Given the description of an element on the screen output the (x, y) to click on. 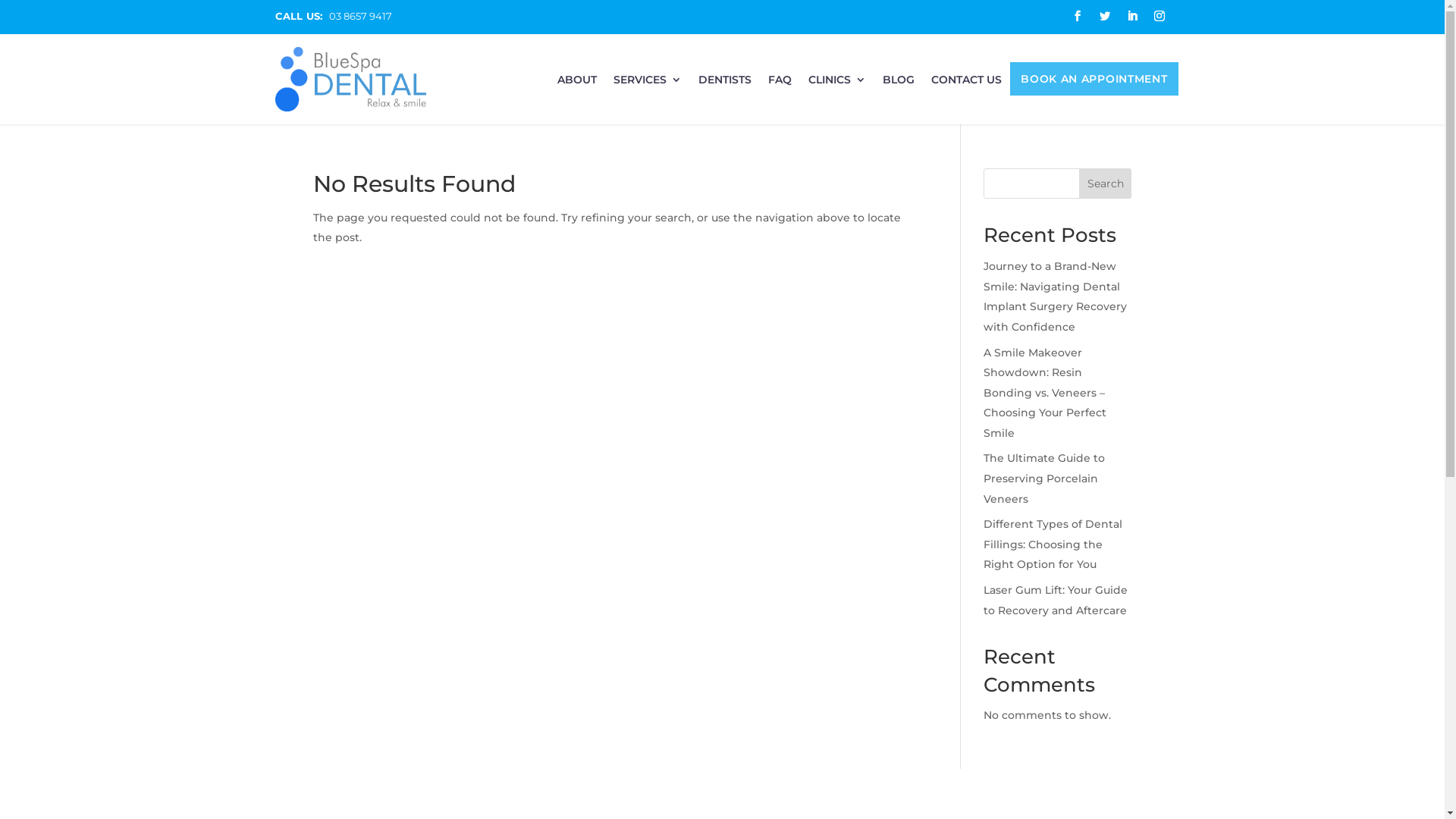
DENTISTS Element type: text (724, 84)
The Ultimate Guide to Preserving Porcelain Veneers Element type: text (1043, 478)
BLOG Element type: text (898, 84)
BOOK AN APPOINTMENT Element type: text (1093, 81)
Follow on Instagram Element type: hover (1158, 15)
ABOUT Element type: text (576, 84)
CLINICS Element type: text (837, 84)
03 8657 9417 Element type: text (360, 15)
SERVICES Element type: text (647, 84)
Follow on Twitter Element type: hover (1103, 15)
Follow on LinkedIn Element type: hover (1131, 15)
Laser Gum Lift: Your Guide to Recovery and Aftercare Element type: text (1055, 600)
CONTACT US Element type: text (966, 84)
Follow on Facebook Element type: hover (1076, 15)
BlueSpa_logo_improved Element type: hover (349, 78)
FAQ Element type: text (779, 84)
Search Element type: text (1105, 183)
